Given the description of an element on the screen output the (x, y) to click on. 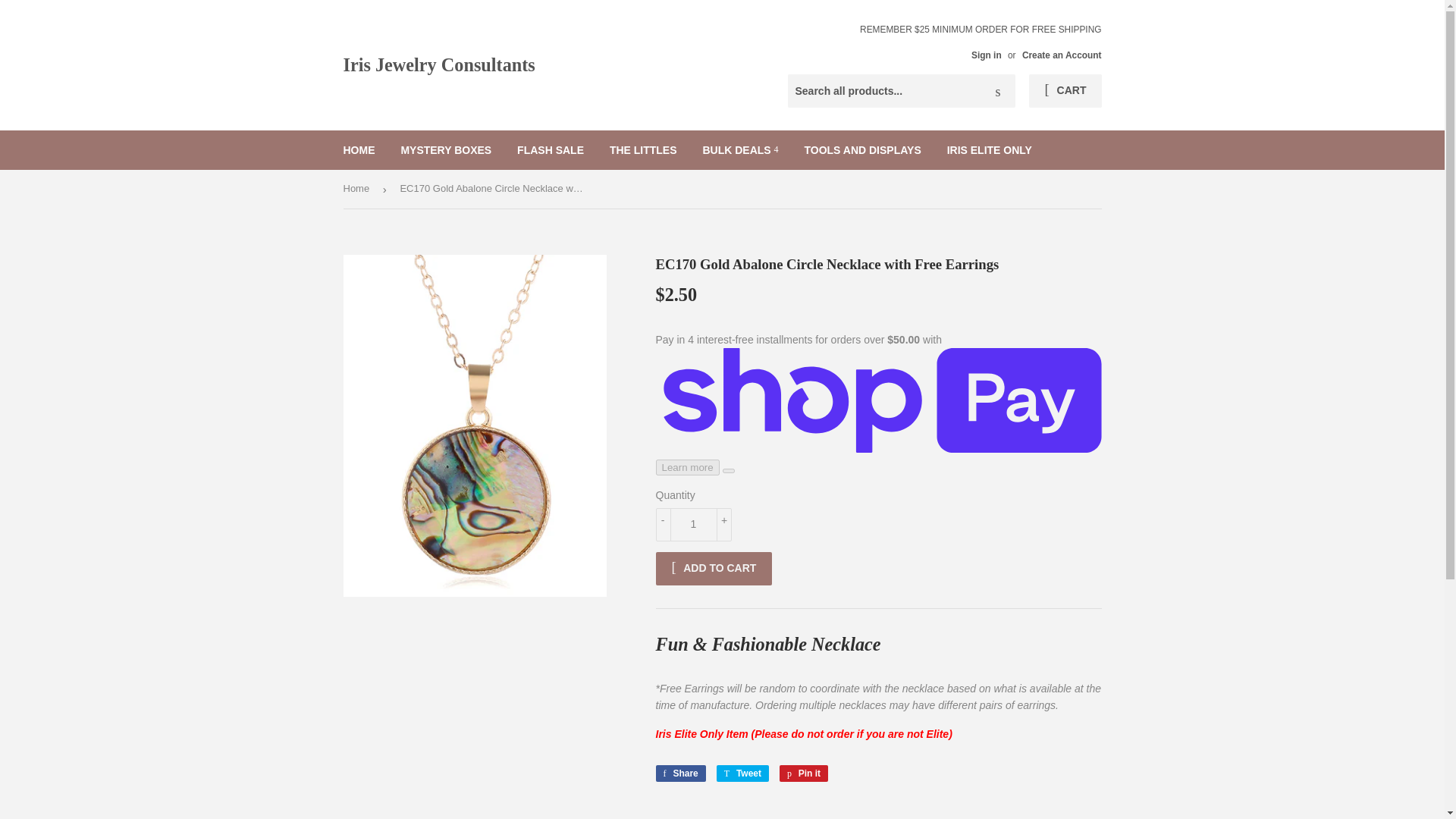
Create an Account (1062, 54)
Pin on Pinterest (803, 773)
Back to the frontpage (358, 188)
MYSTERY BOXES (803, 773)
CART (445, 149)
Search (1064, 90)
THE LITTLES (679, 773)
Home (997, 91)
IRIS ELITE ONLY (643, 149)
Tweet on Twitter (358, 188)
ADD TO CART (989, 149)
TOOLS AND DISPLAYS (742, 773)
